Given the description of an element on the screen output the (x, y) to click on. 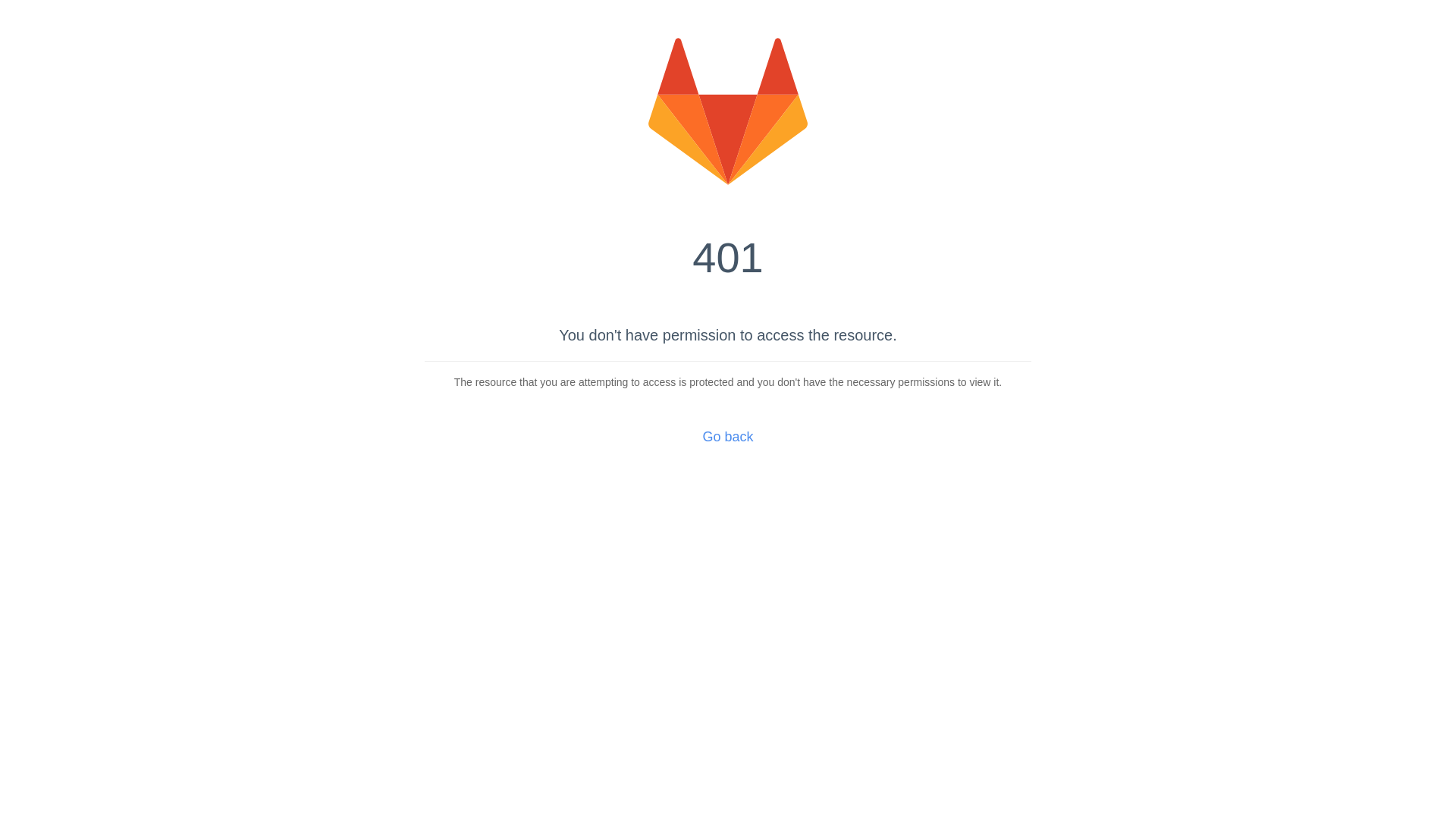
Go back Element type: text (727, 436)
